Given the description of an element on the screen output the (x, y) to click on. 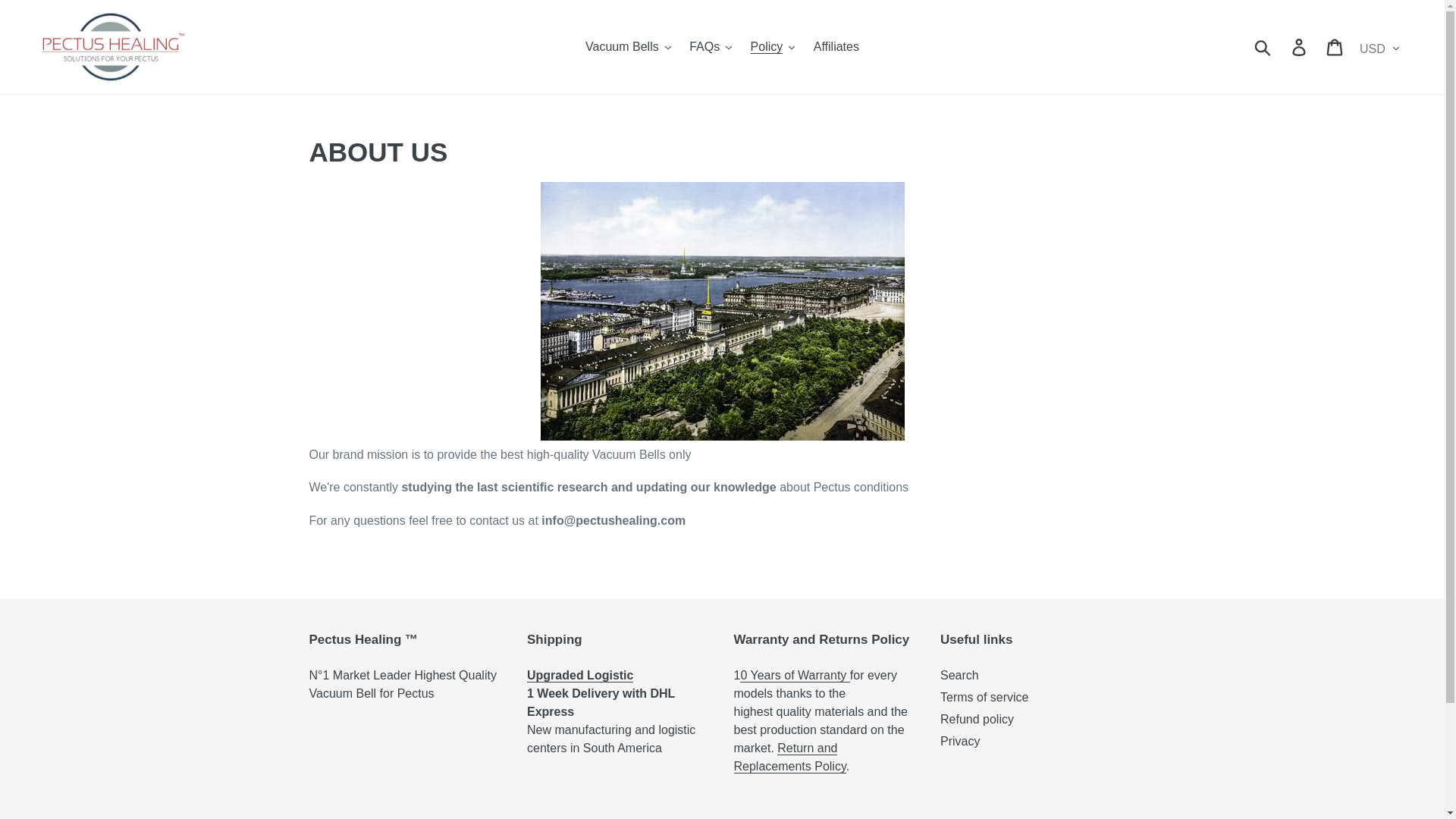
Ingresar (1299, 46)
Buscar (1263, 46)
Affiliates (836, 47)
10 YEARS OF WARRANTY (793, 675)
Carrito (1335, 46)
